Given the description of an element on the screen output the (x, y) to click on. 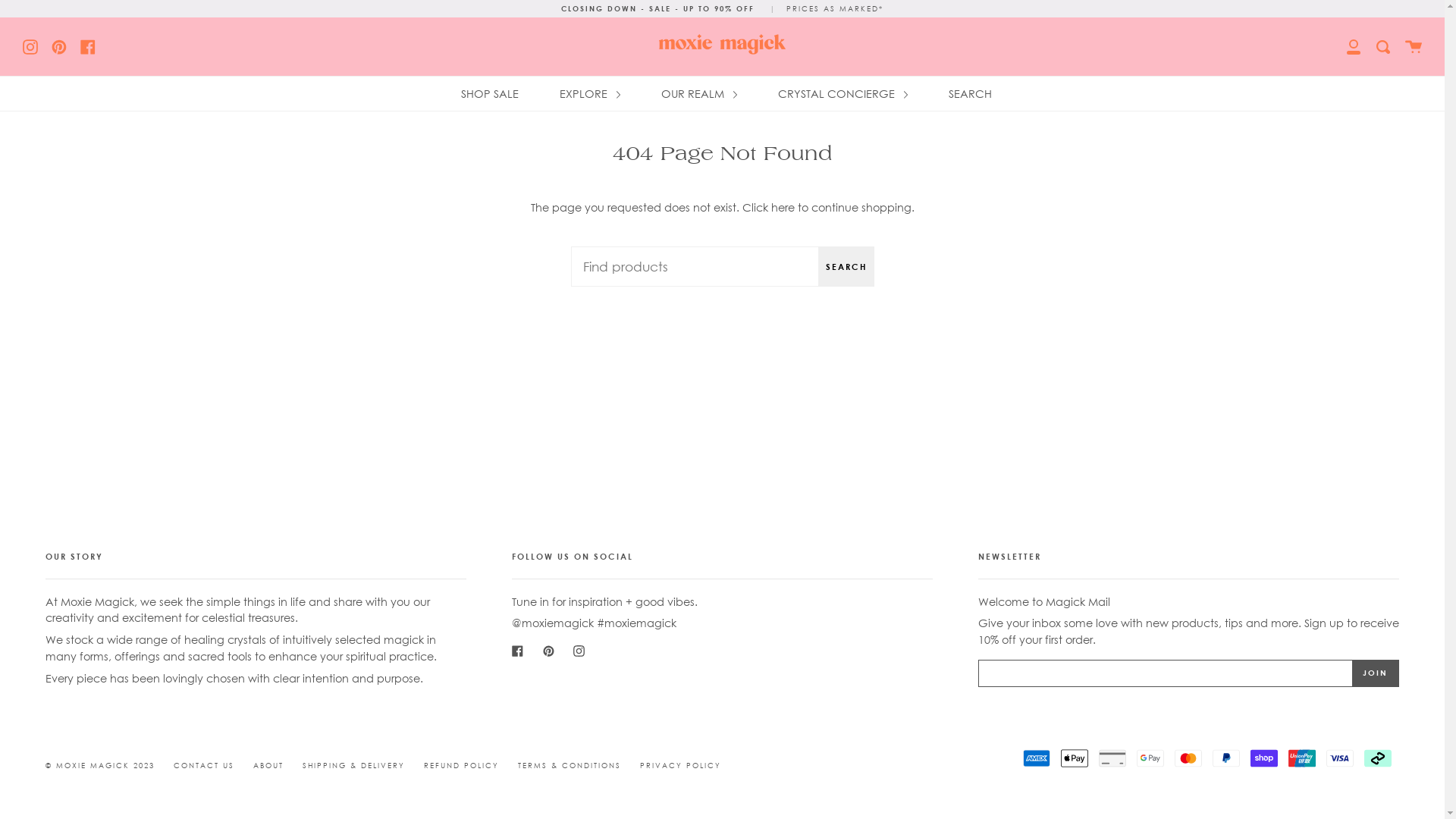
Instagram Element type: text (578, 649)
Pinterest Element type: text (58, 45)
Facebook Element type: text (87, 45)
here Element type: text (781, 206)
Facebook Element type: text (517, 649)
PRIVACY POLICY Element type: text (680, 765)
CRYSTAL CONCIERGE Element type: text (841, 93)
SEARCH Element type: text (845, 266)
ABOUT Element type: text (268, 765)
Join Element type: text (1375, 673)
Search Element type: text (1383, 46)
Pinterest Element type: text (548, 649)
CLOSING DOWN - SALE - UP TO 90% OFF | PRICES AS MARKED* Element type: text (722, 8)
Cart Element type: text (1413, 46)
SEARCH Element type: text (969, 93)
OUR REALM Element type: text (698, 93)
TERMS & CONDITIONS Element type: text (569, 765)
CONTACT US Element type: text (203, 765)
SHOP SALE Element type: text (488, 93)
SHIPPING & DELIVERY Element type: text (353, 765)
Instagram Element type: text (29, 45)
My Account Element type: text (1353, 46)
EXPLORE Element type: text (589, 93)
REFUND POLICY Element type: text (460, 765)
